Given the description of an element on the screen output the (x, y) to click on. 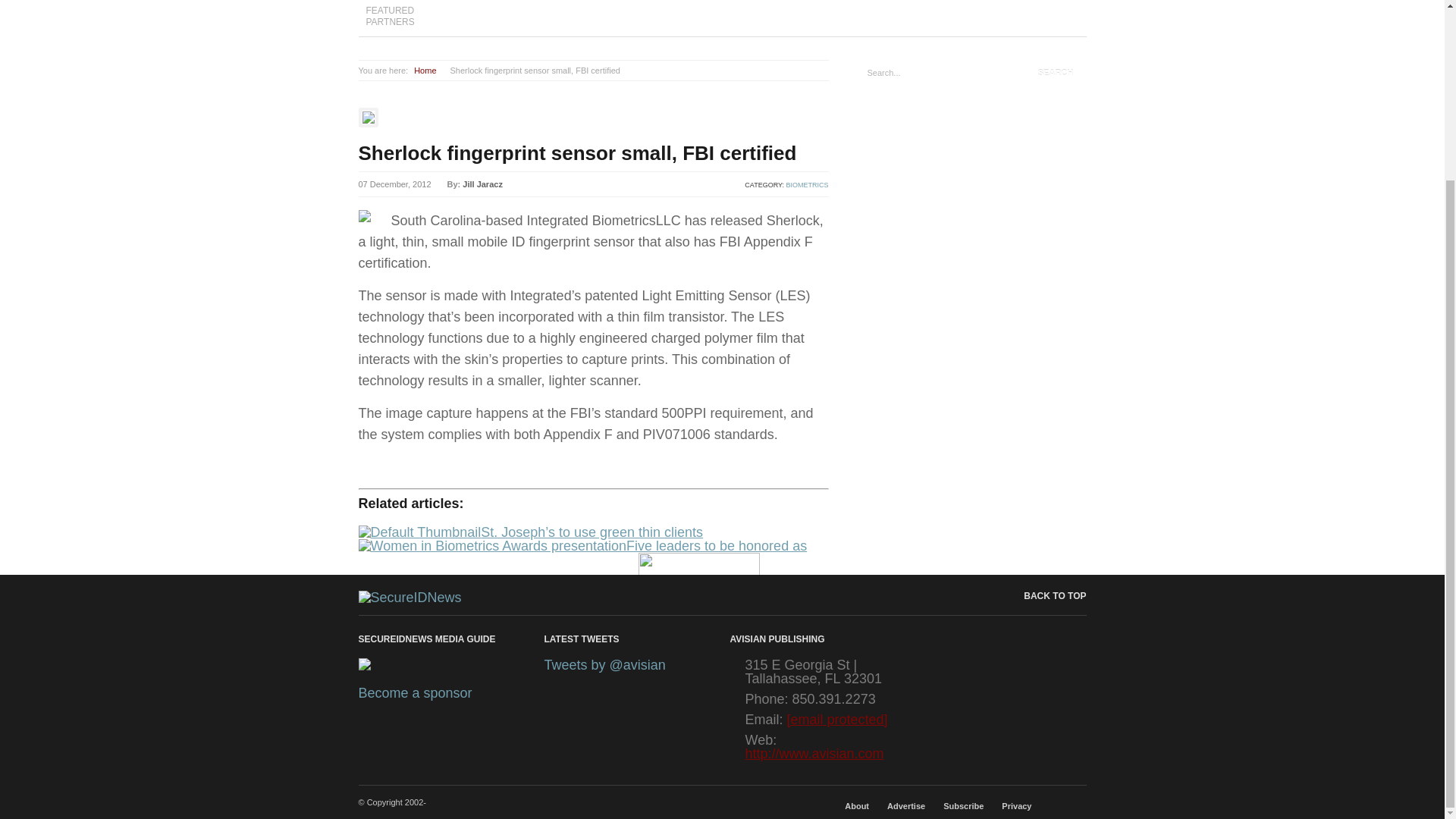
Sherlock fingerprint sensor small, FBI certified (577, 152)
Home (424, 70)
Become a sponsor (414, 693)
Fingerprint (401, 666)
BACK TO TOP (1043, 596)
Sensors (441, 666)
Search (1055, 72)
Search (1055, 72)
Uproar in the mobile fingerprint market (586, 638)
SecureIDNews (409, 597)
Jill Jaracz (482, 184)
BIOMETRICS (807, 184)
Uproar in the mobile fingerprint market (586, 638)
